Given the description of an element on the screen output the (x, y) to click on. 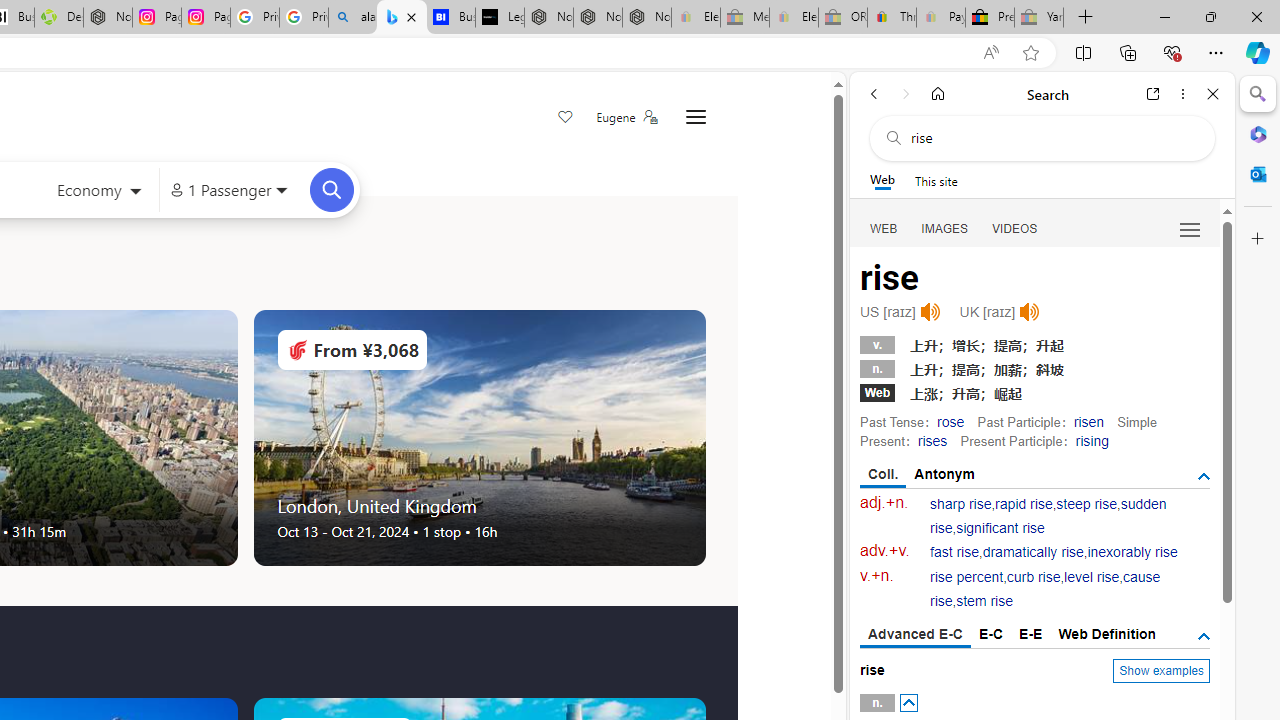
risen (1088, 421)
steep rise (1086, 503)
alabama high school quarterback dies - Search (353, 17)
This site scope (936, 180)
AutomationID: posbtn_0 (908, 703)
Outlook (1258, 174)
AutomationID: tgsb (1203, 476)
Threats and offensive language policy | eBay (891, 17)
Class: b_serphb (1190, 229)
rapid rise (1023, 503)
